Given the description of an element on the screen output the (x, y) to click on. 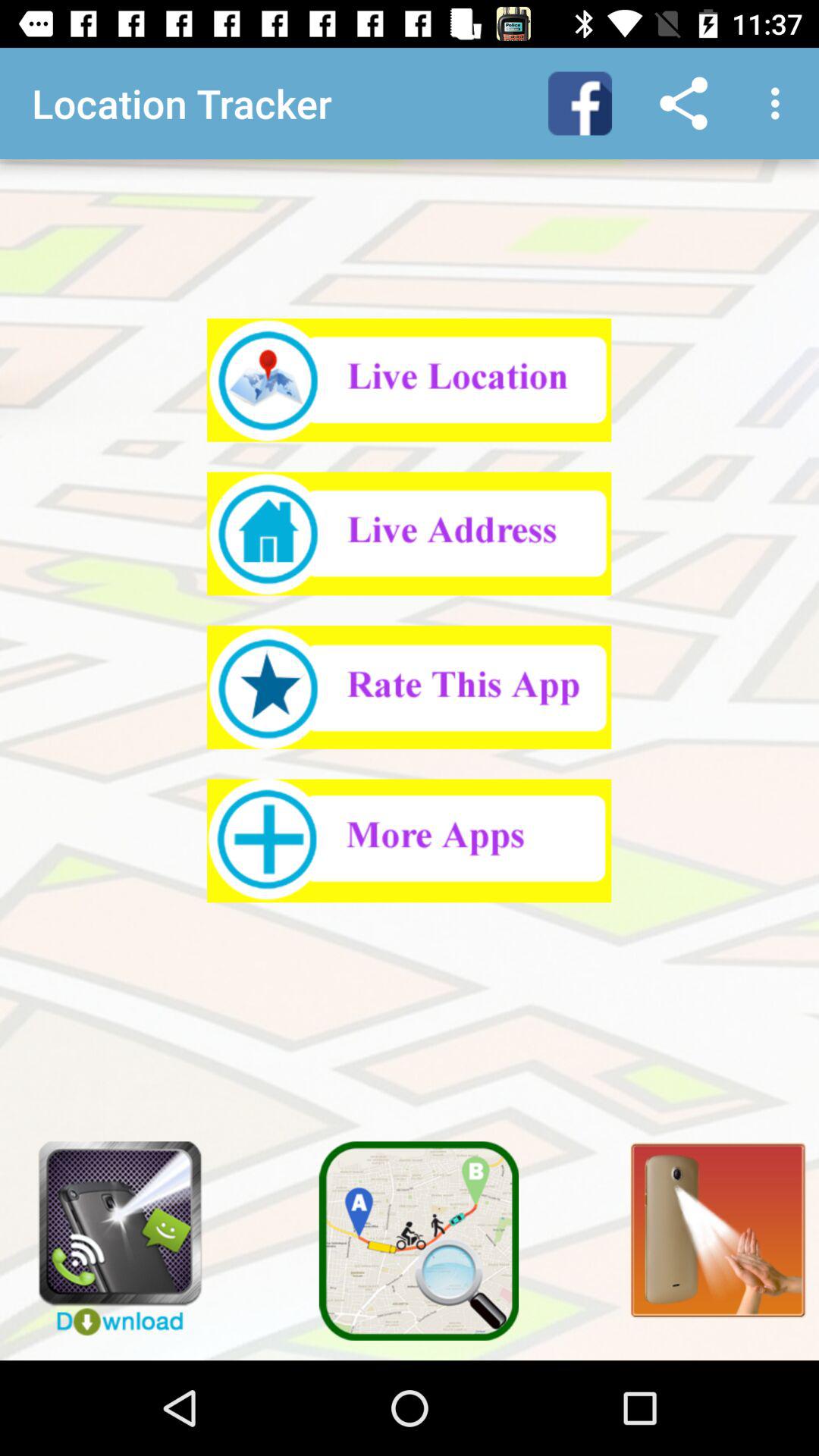
see live locations (409, 379)
